Given the description of an element on the screen output the (x, y) to click on. 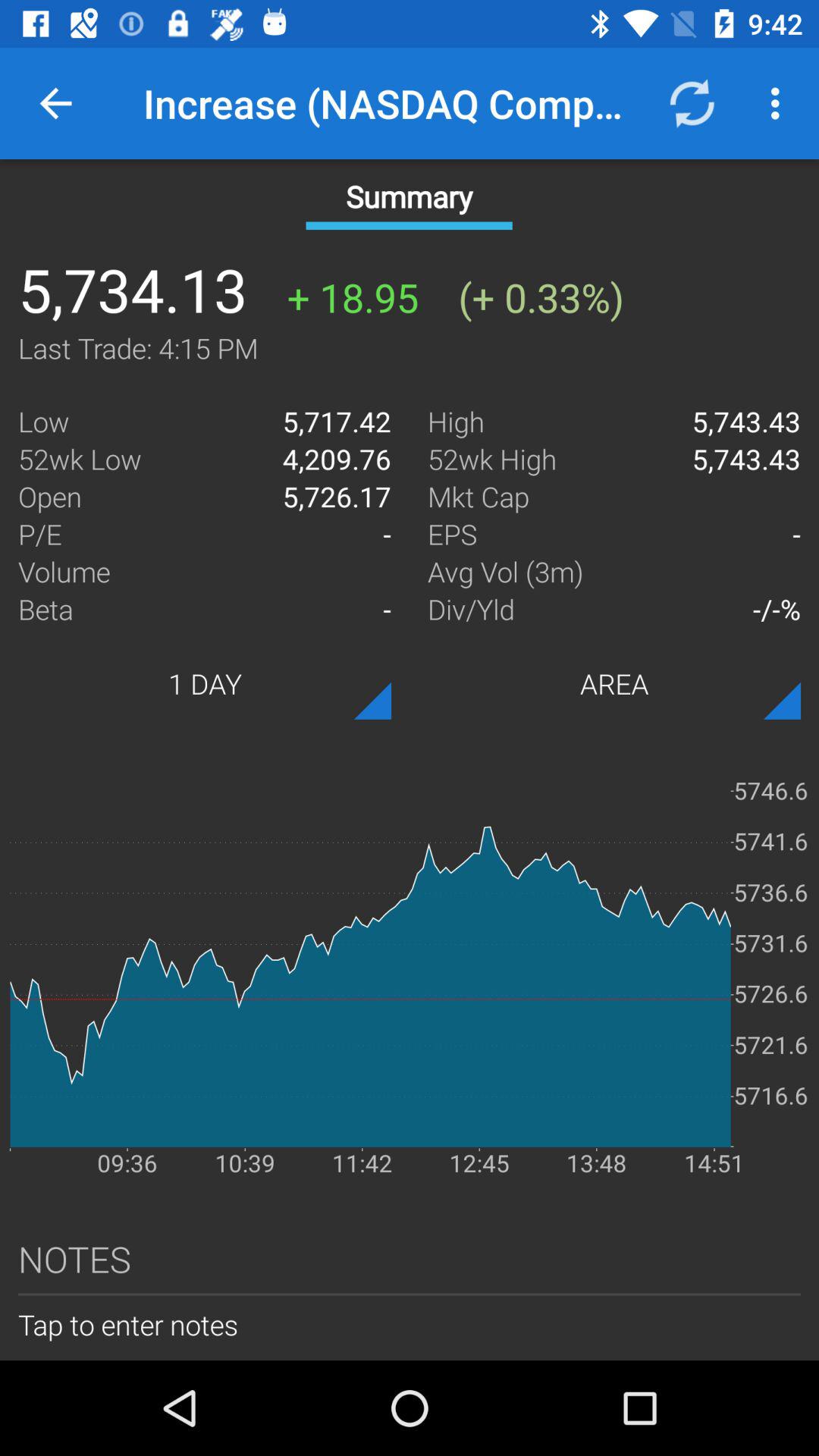
tap item below beta (204, 683)
